Given the description of an element on the screen output the (x, y) to click on. 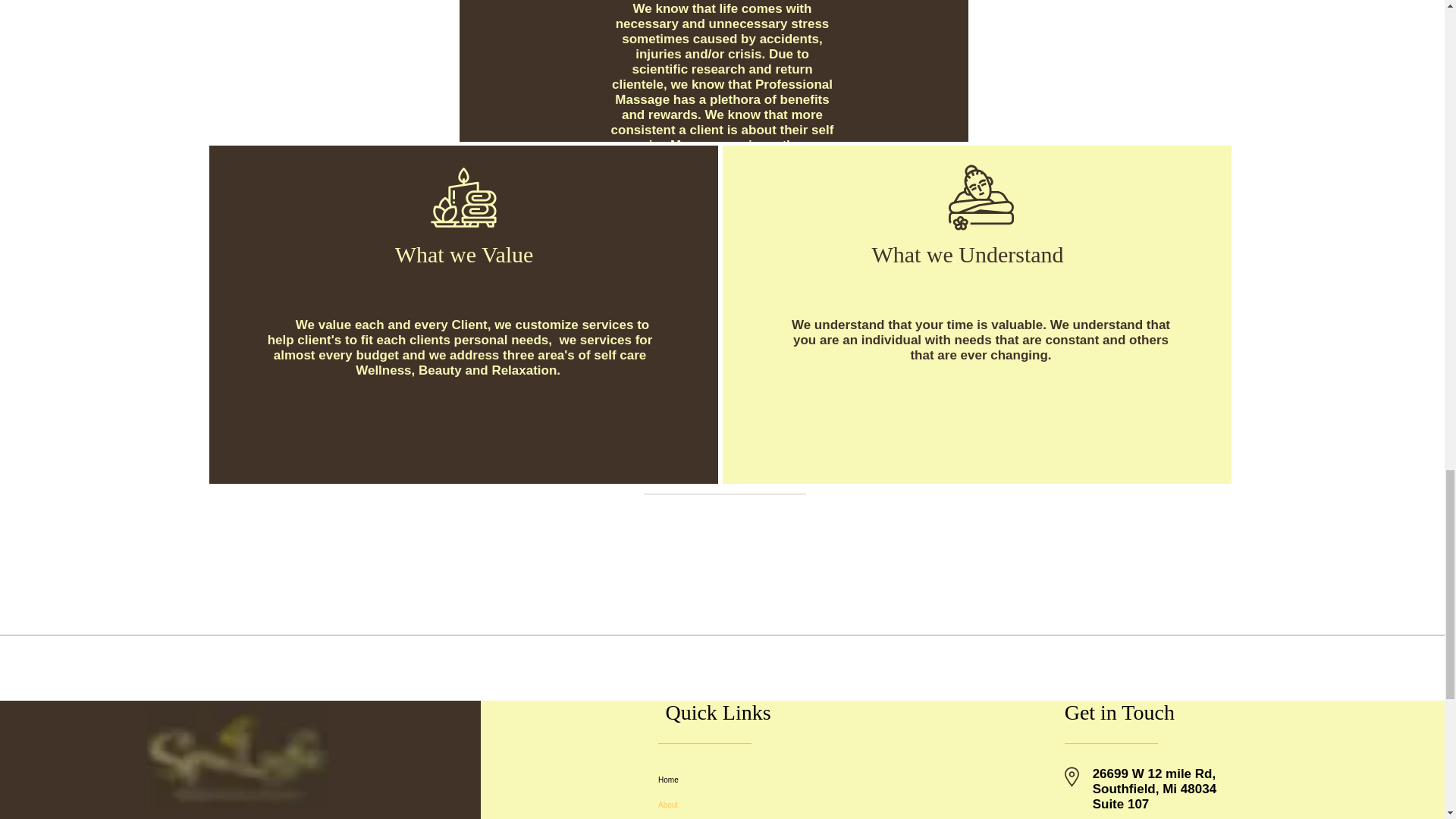
About (749, 804)
Suite 107 (1121, 803)
Home (749, 779)
